Given the description of an element on the screen output the (x, y) to click on. 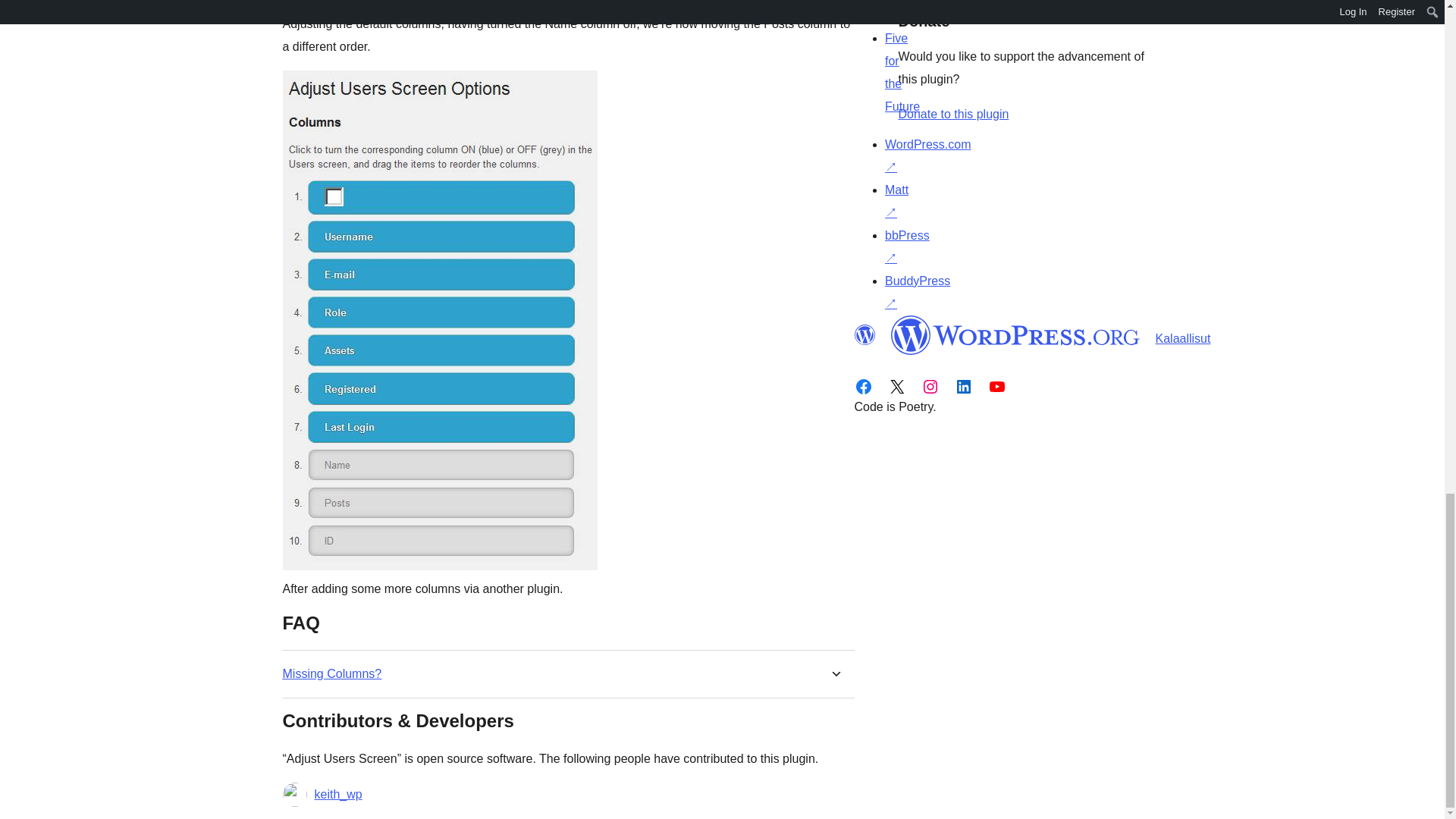
WordPress.org (1014, 334)
WordPress.org (864, 334)
Missing Columns? (331, 673)
